Given the description of an element on the screen output the (x, y) to click on. 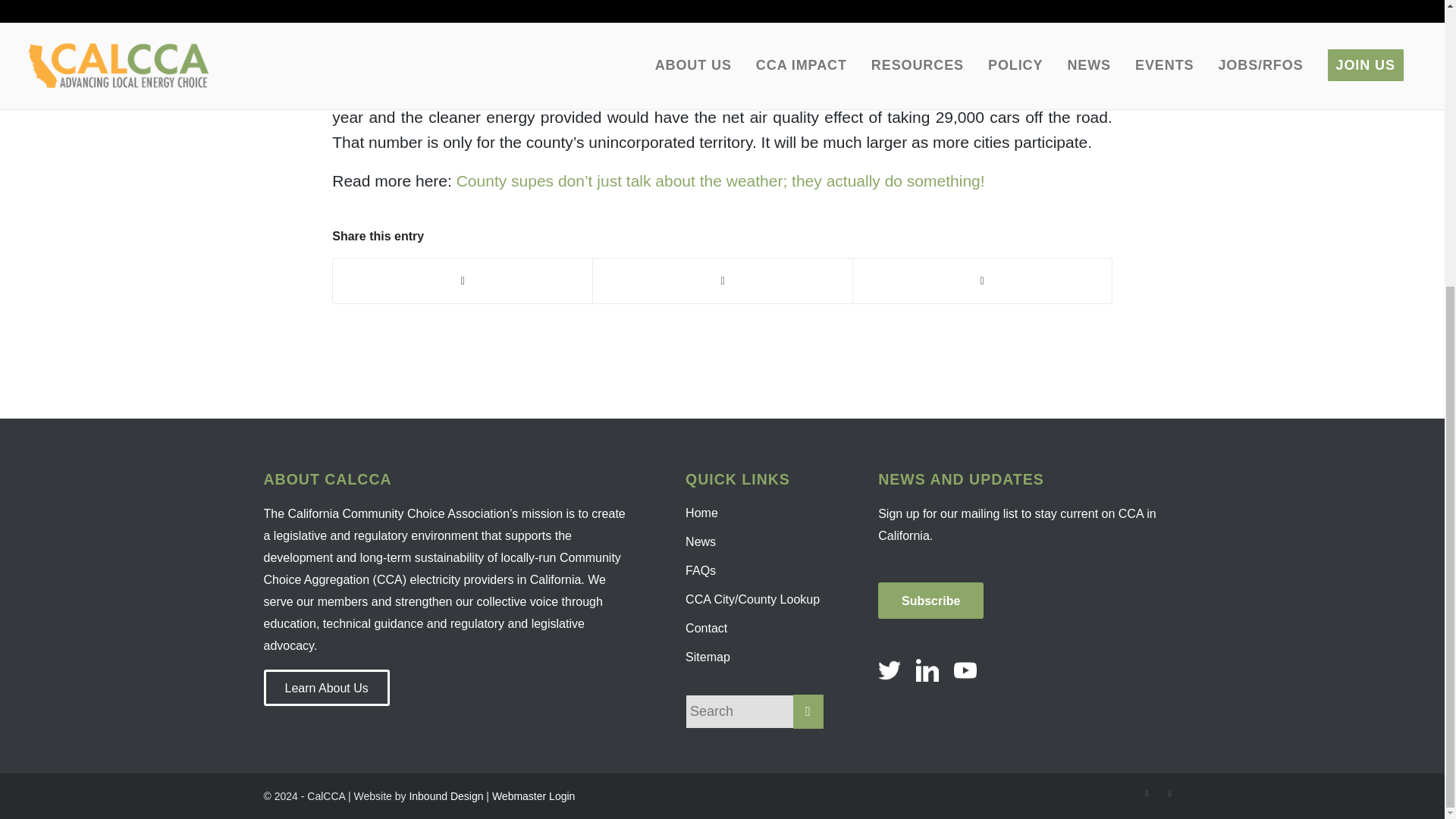
FAQs (754, 570)
Subscribe (930, 600)
Contact (754, 628)
Home (754, 512)
LinkedIn (1169, 793)
News (754, 541)
Learn About Us (326, 687)
Sitemap (754, 656)
Twitter (1146, 793)
